Given the description of an element on the screen output the (x, y) to click on. 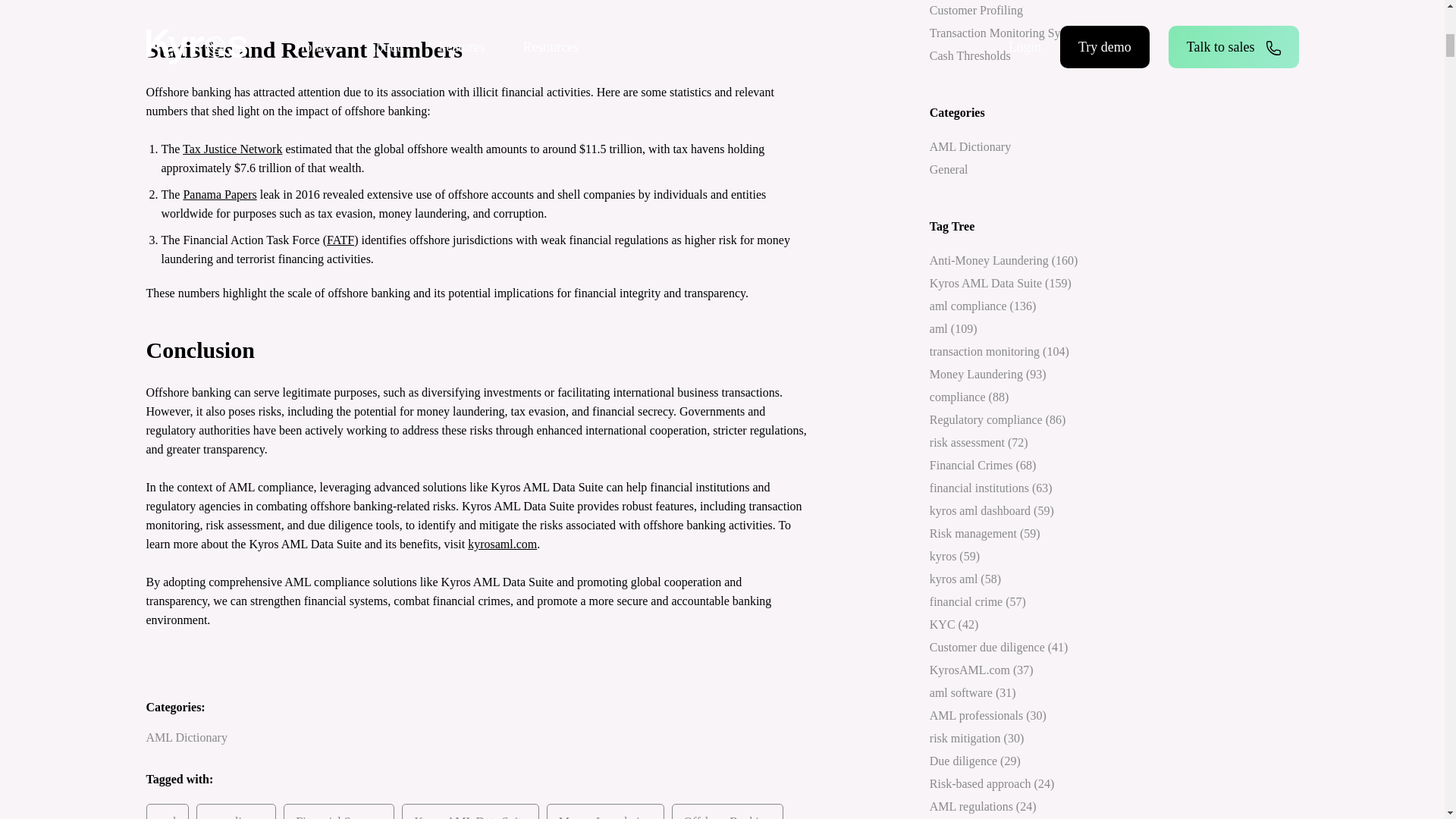
Panama Papers (219, 194)
aml (166, 811)
Kyros AML Data Suite (469, 811)
Tax Justice Network (232, 148)
AML Dictionary (186, 737)
kyrosaml.com (502, 543)
Financial Secrecy (338, 811)
Money Laundering (605, 811)
FATF (339, 239)
compliance (235, 811)
Offshore Banking (727, 811)
